Given the description of an element on the screen output the (x, y) to click on. 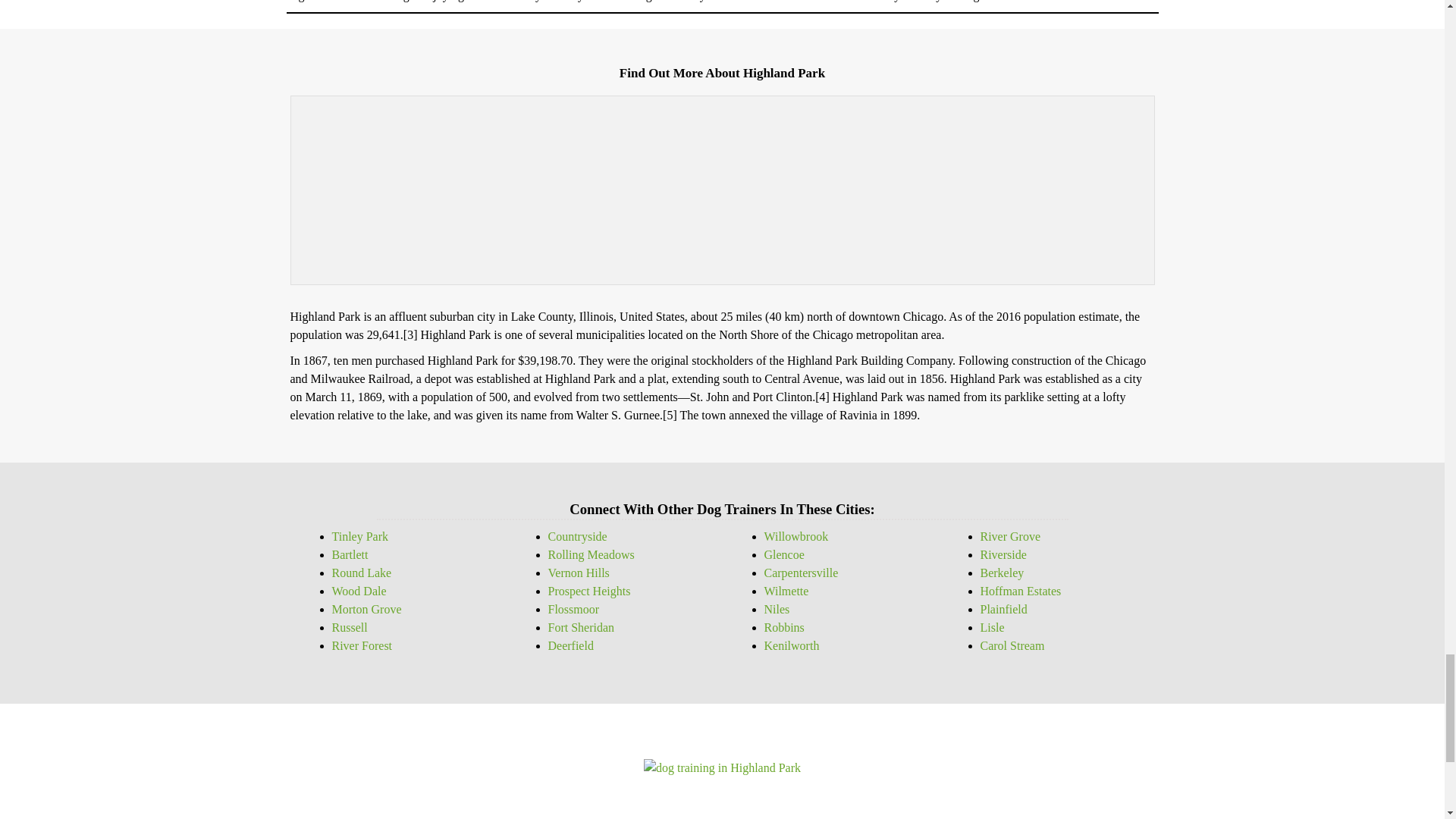
River Forest (362, 645)
Round Lake (361, 572)
Wood Dale (359, 590)
Tinley Park (359, 535)
Russell (349, 626)
Bartlett (349, 554)
Morton Grove (366, 608)
